Given the description of an element on the screen output the (x, y) to click on. 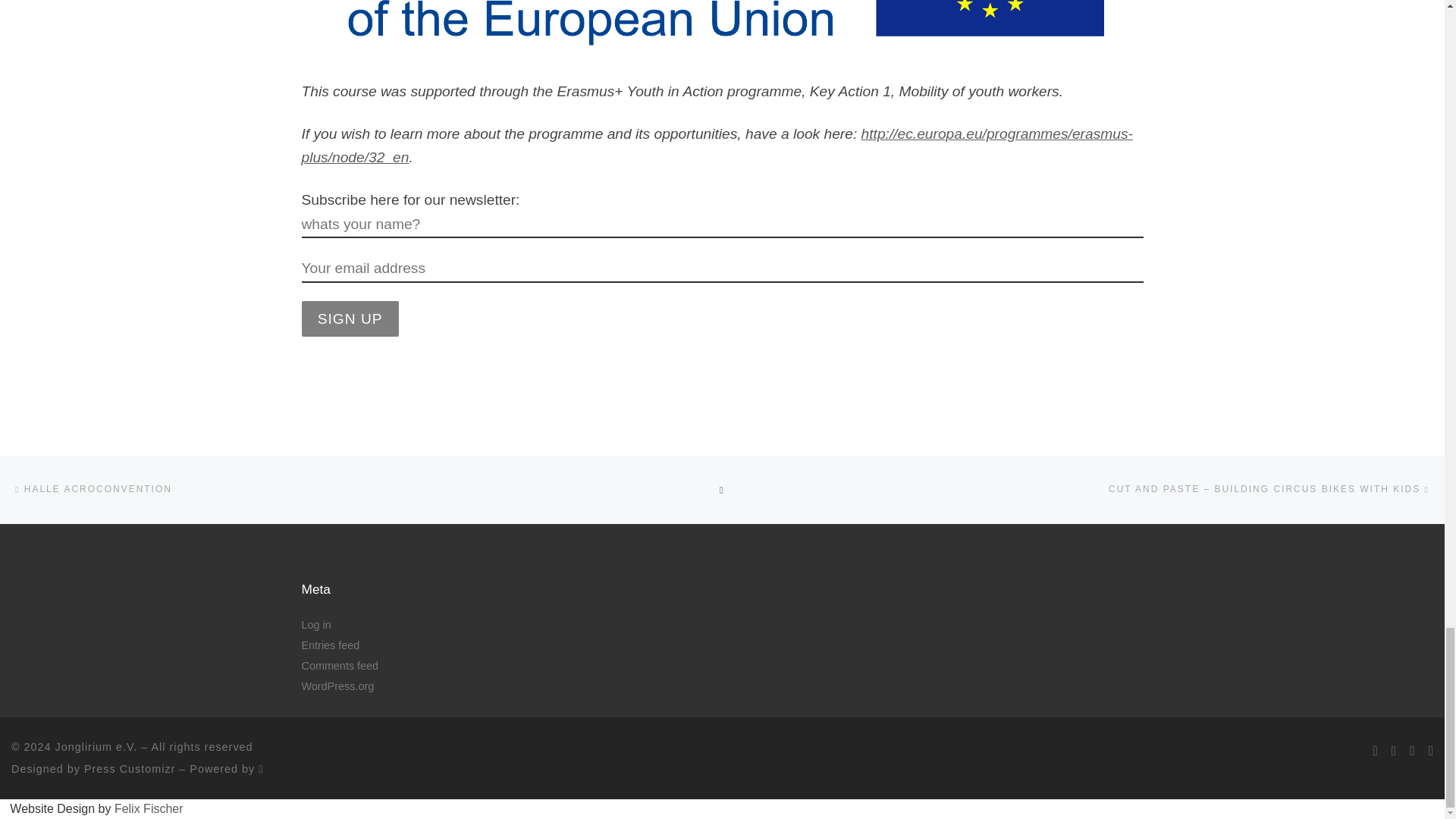
Sign up (349, 318)
Jonglirium e.V. (96, 746)
Press Customizr (129, 768)
